Given the description of an element on the screen output the (x, y) to click on. 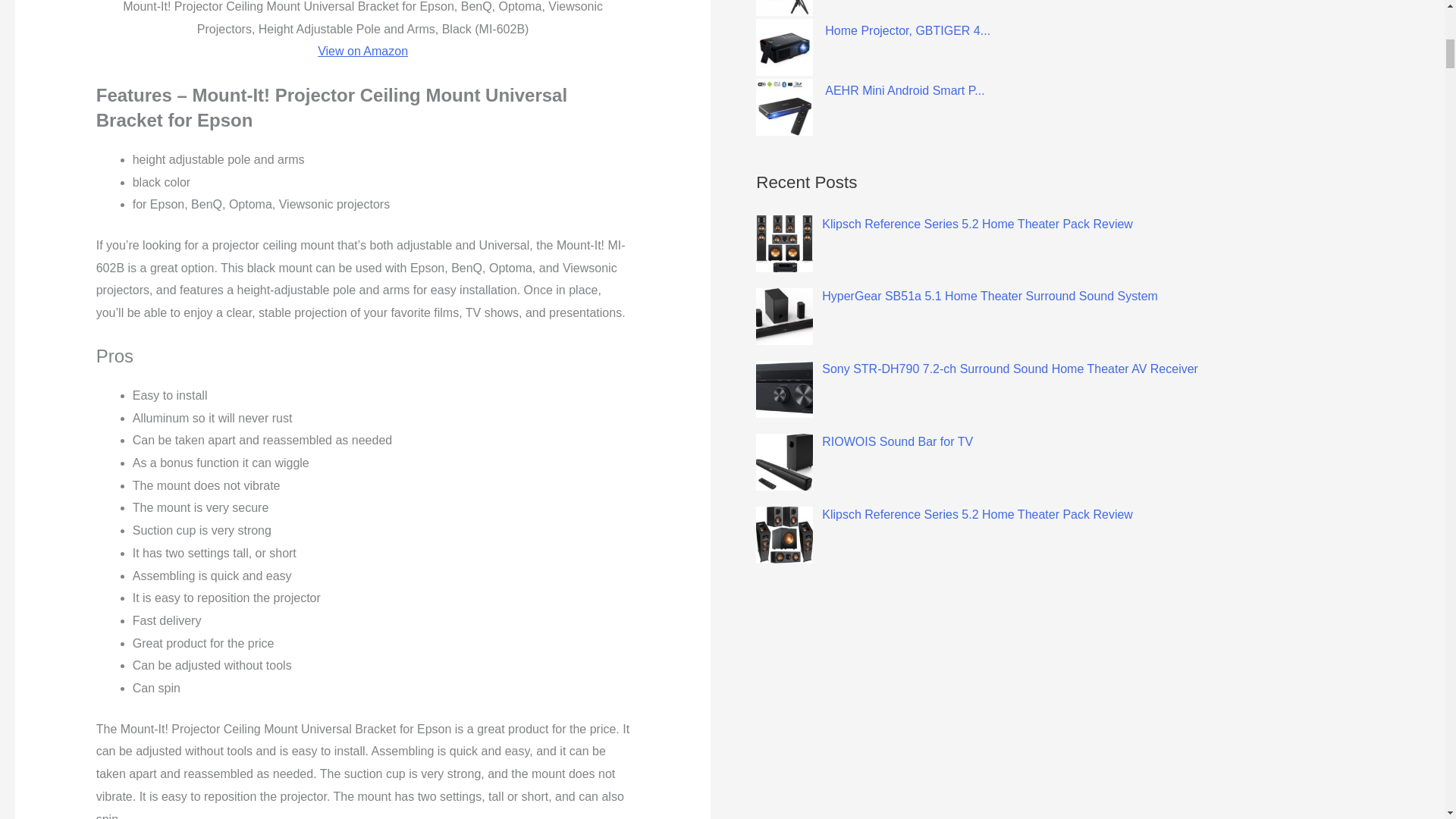
View on Amazon (362, 51)
